Given the description of an element on the screen output the (x, y) to click on. 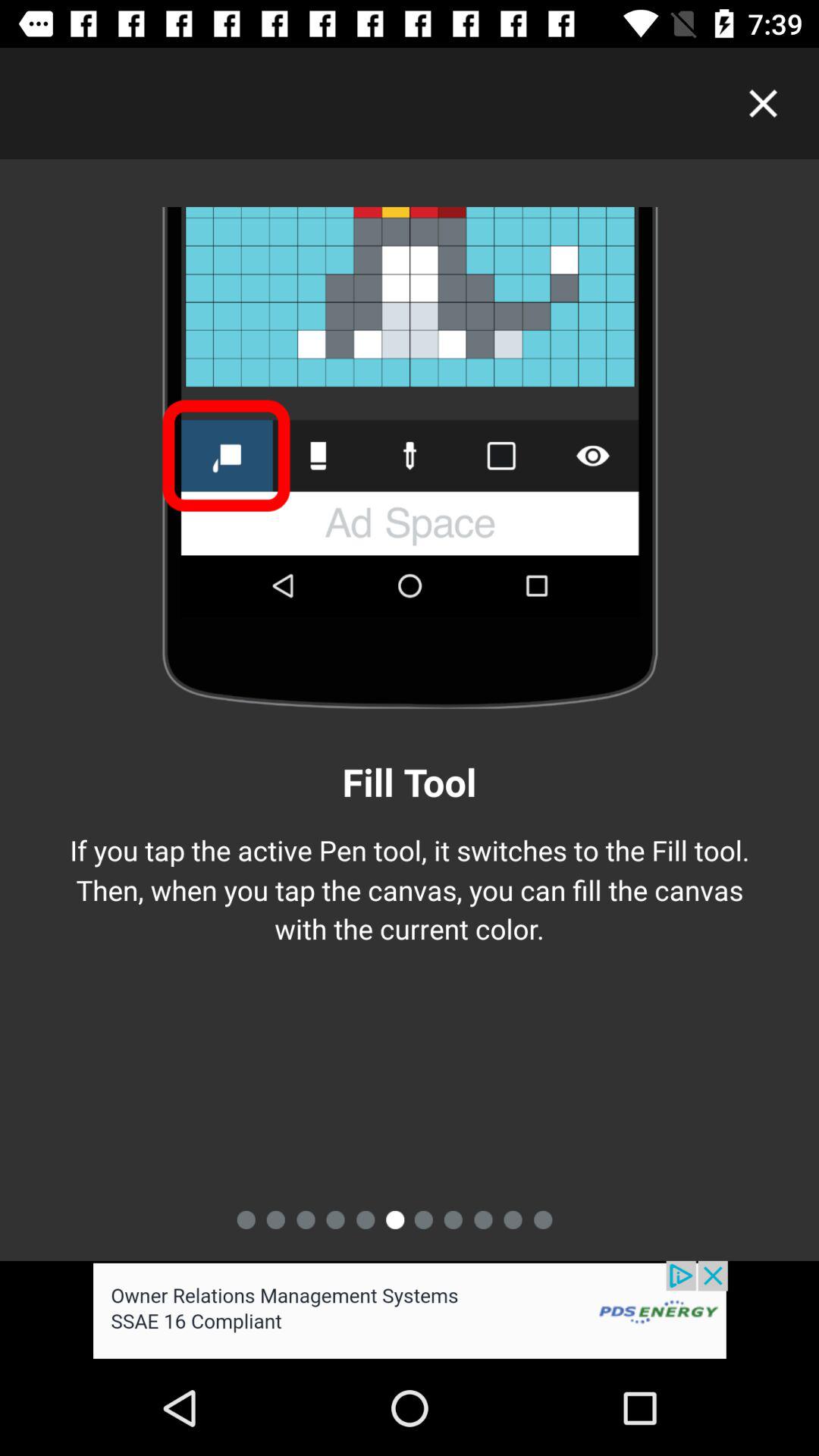
close page (763, 103)
